Given the description of an element on the screen output the (x, y) to click on. 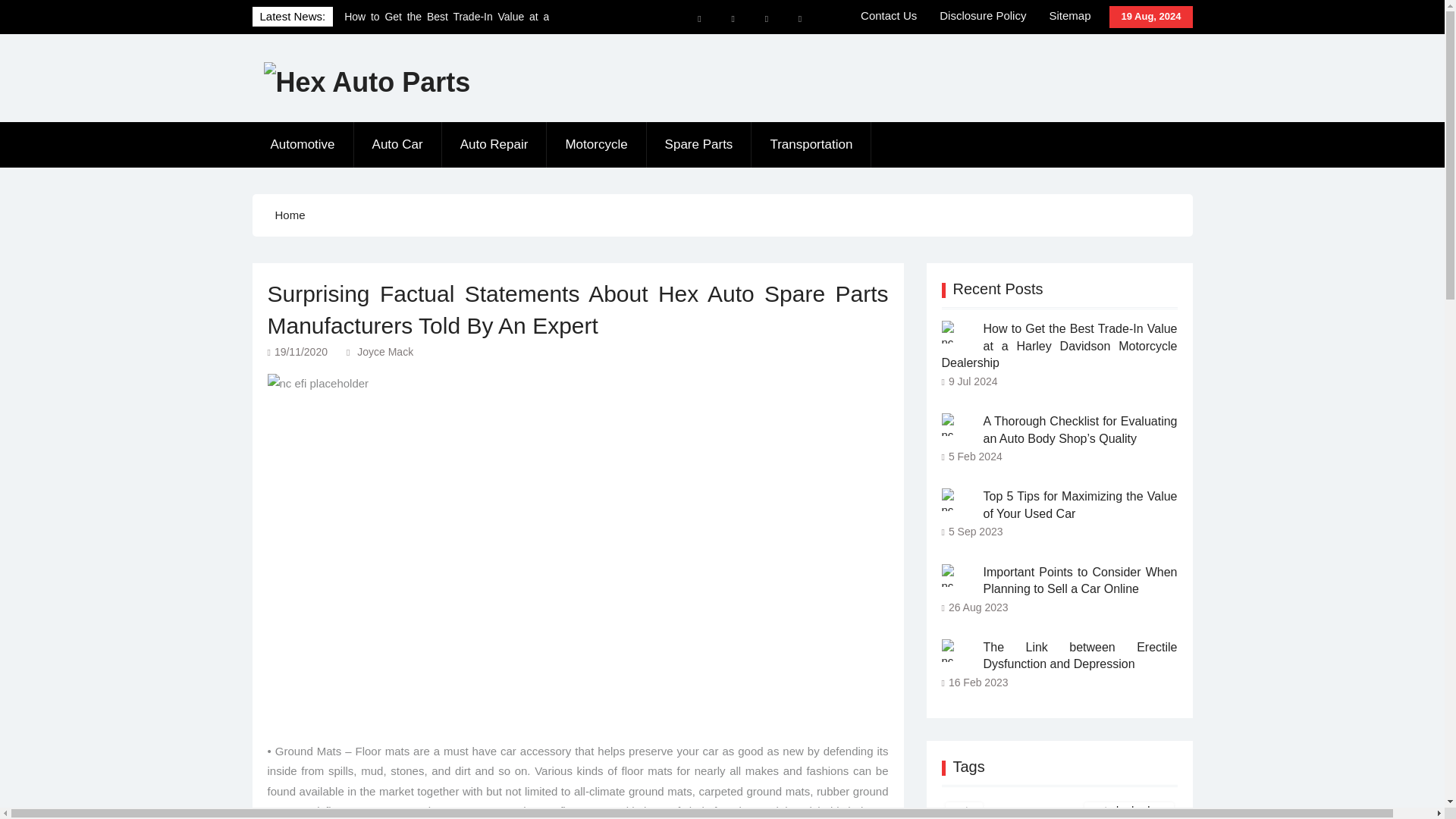
Auto Repair (494, 144)
The Link between Erectile Dysfunction and Depression (952, 650)
Top 5 Tips for Maximizing the Value of Your Used Car (952, 499)
Twitter (766, 19)
Auto Car (397, 144)
Contact Us (888, 15)
Spare Parts (699, 144)
Sitemap (1069, 15)
